Given the description of an element on the screen output the (x, y) to click on. 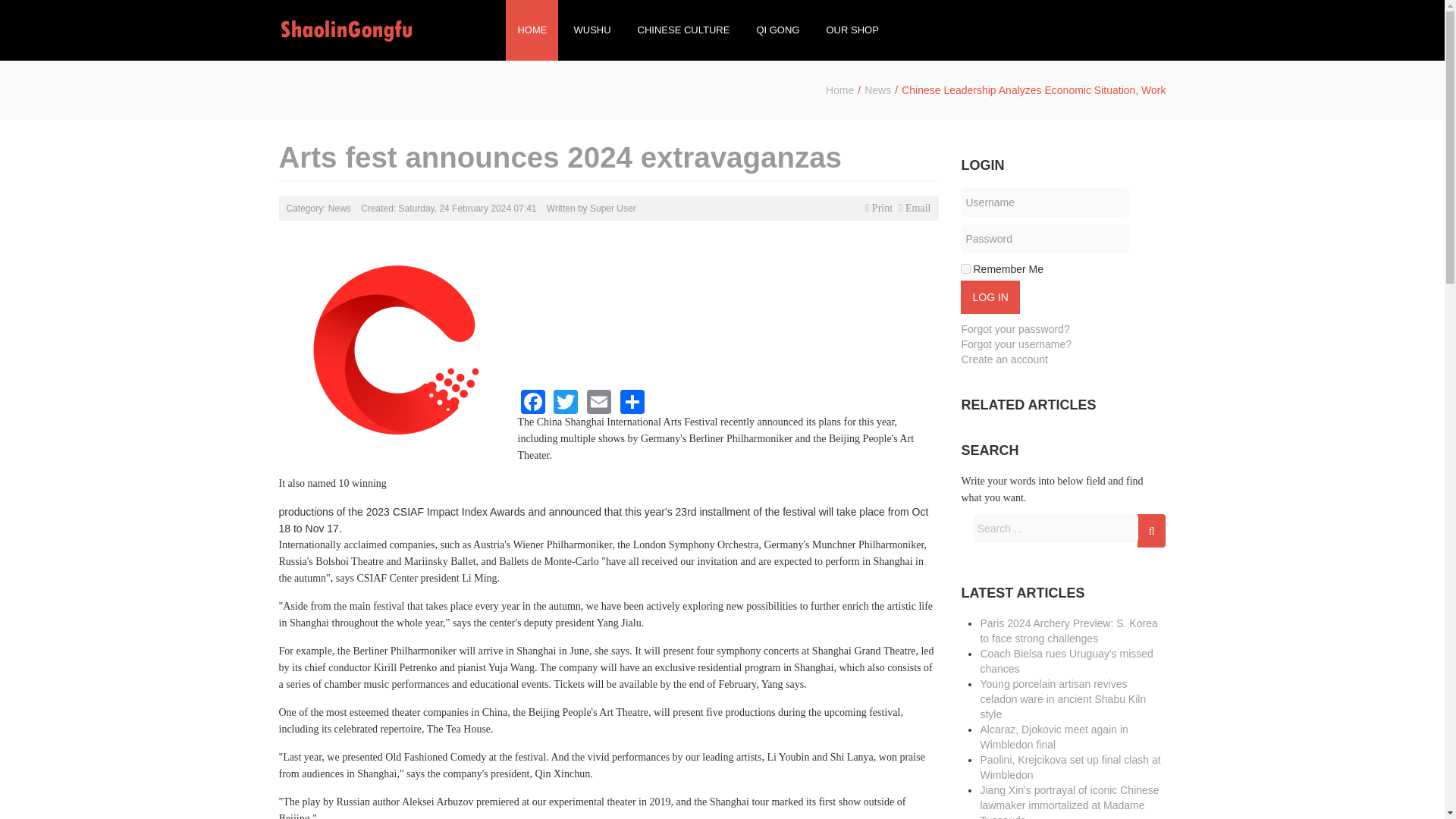
Home (839, 90)
LOG IN (989, 296)
News (339, 208)
Facebook (531, 400)
WUSHU (591, 30)
Search ... (1055, 528)
Alcaraz, Djokovic meet again in Wimbledon final (1052, 737)
Forgot your username? (1015, 344)
Coach Bielsa rues Uruguay's missed chances (1066, 660)
Create an account (1003, 358)
Email (598, 400)
Arts fest announces 2024 extravaganzas (561, 156)
yes (965, 268)
News (877, 90)
